Given the description of an element on the screen output the (x, y) to click on. 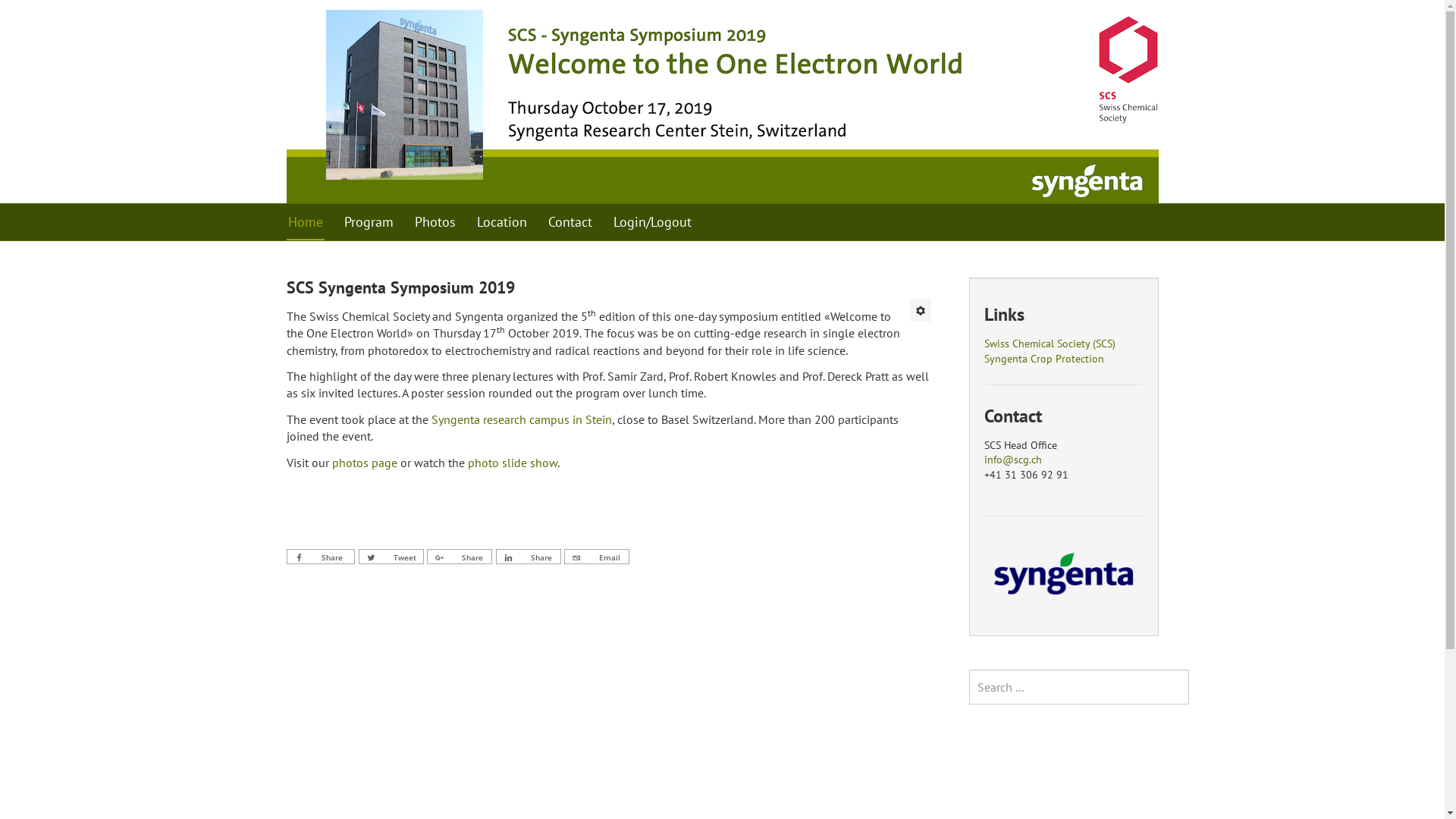
Syngenta research campus in Stein Element type: text (520, 418)
Photos Element type: text (434, 221)
Program Element type: text (368, 221)
Share Element type: text (528, 556)
Email Element type: text (596, 556)
Contact Element type: text (569, 221)
photos page Element type: text (364, 462)
Home Element type: text (305, 221)
Share Element type: text (459, 556)
Syngenta Crop Protection Element type: text (1044, 358)
photo slide show Element type: text (511, 462)
Swiss Chemical Society (SCS) Element type: text (1049, 343)
Login/Logout Element type: text (651, 221)
Tweet Element type: text (390, 556)
Location Element type: text (500, 221)
SCS Syngenta Symposium 2019 Element type: text (400, 287)
Share Element type: text (320, 556)
